Given the description of an element on the screen output the (x, y) to click on. 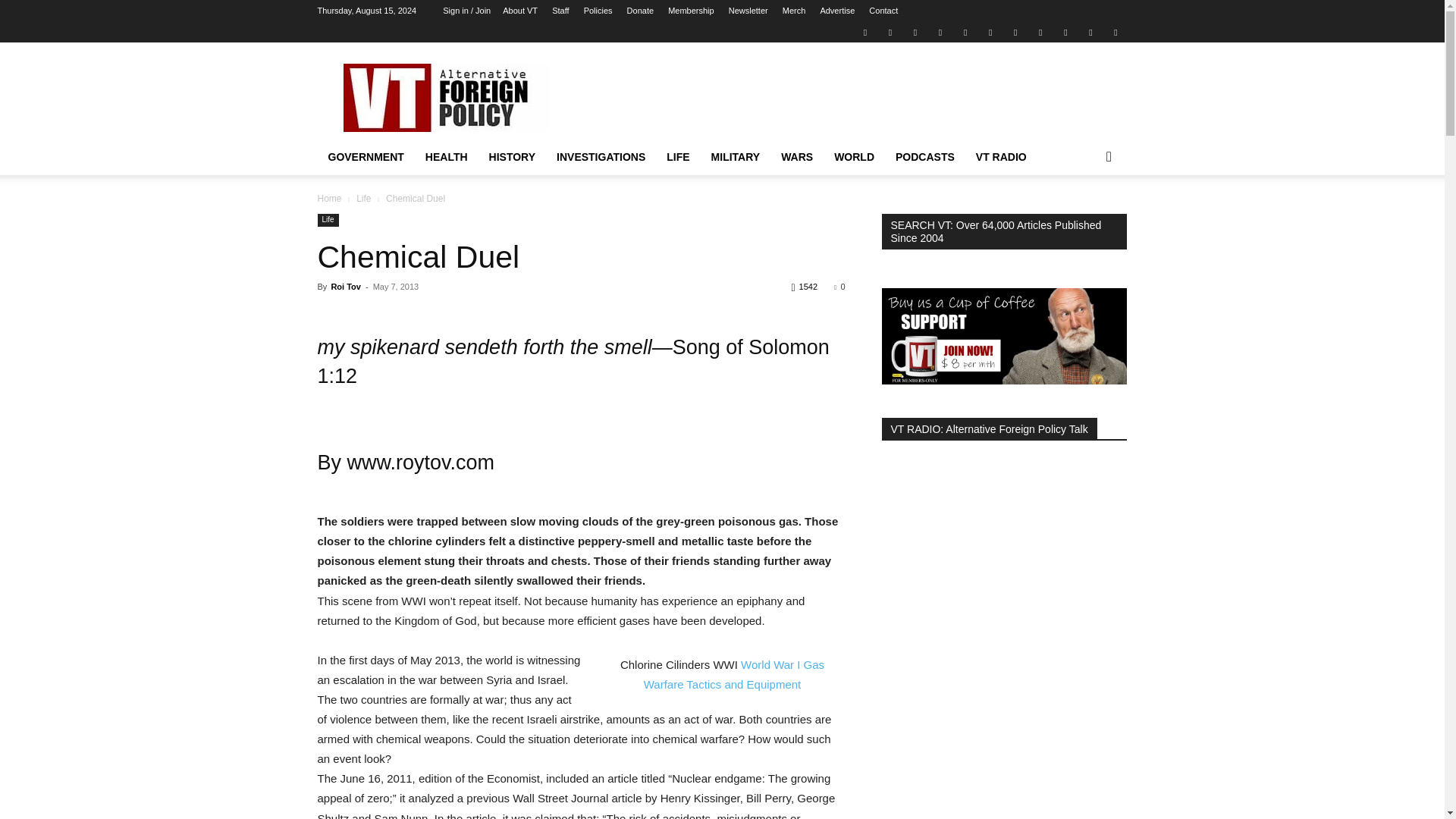
Donate (640, 10)
Advertise (836, 10)
Facebook (890, 31)
Staff (560, 10)
Blogger (864, 31)
Mail (915, 31)
Contact (883, 10)
Reddit (940, 31)
Newsletter (748, 10)
Rumble (964, 31)
